Given the description of an element on the screen output the (x, y) to click on. 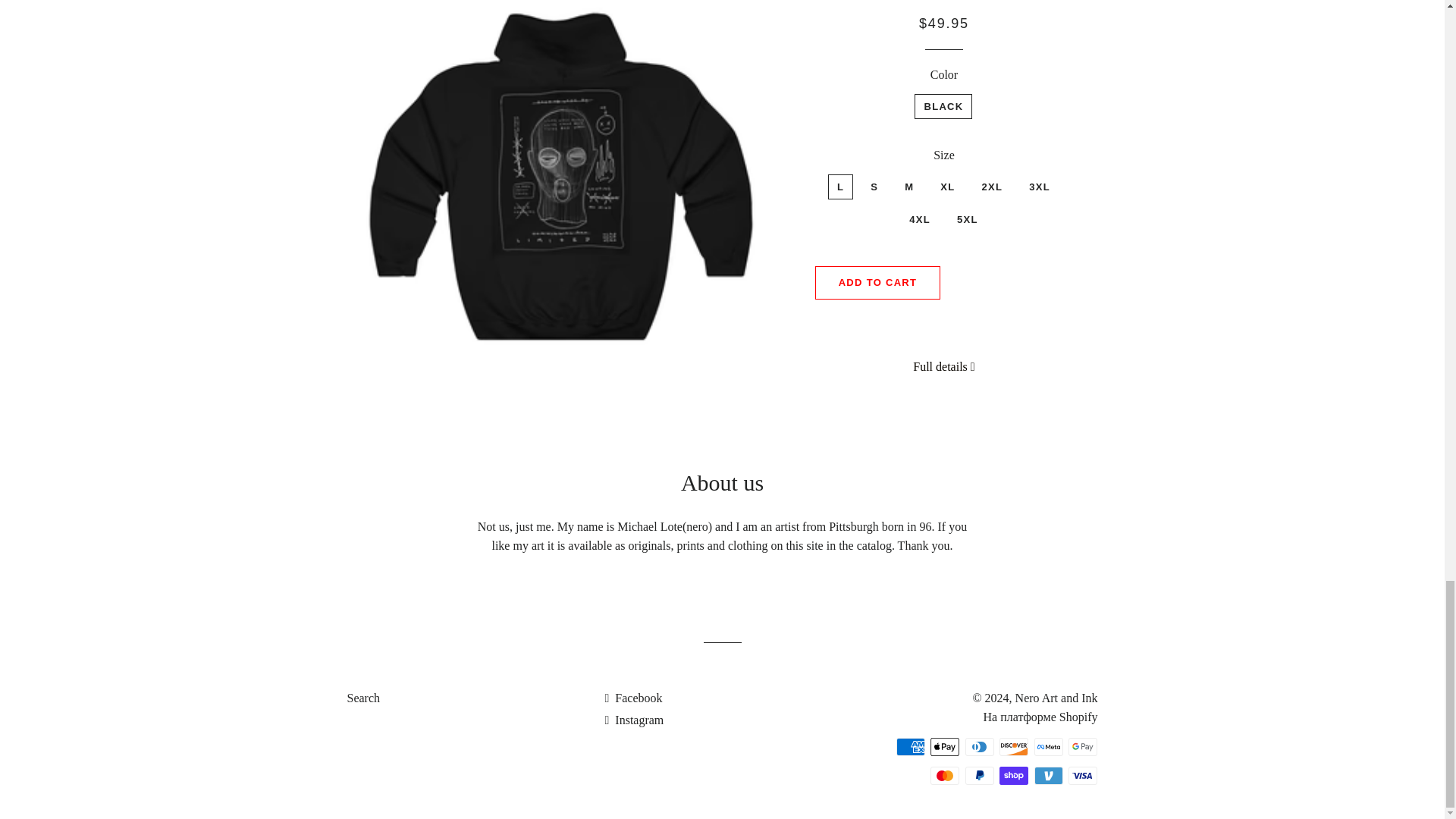
PayPal (979, 775)
Nero Art and Ink on Instagram (633, 719)
Nero Art and Ink on Facebook (633, 697)
American Express (910, 746)
Meta Pay (1047, 746)
Mastercard (944, 775)
Visa (1082, 775)
Full details (943, 366)
